Given the description of an element on the screen output the (x, y) to click on. 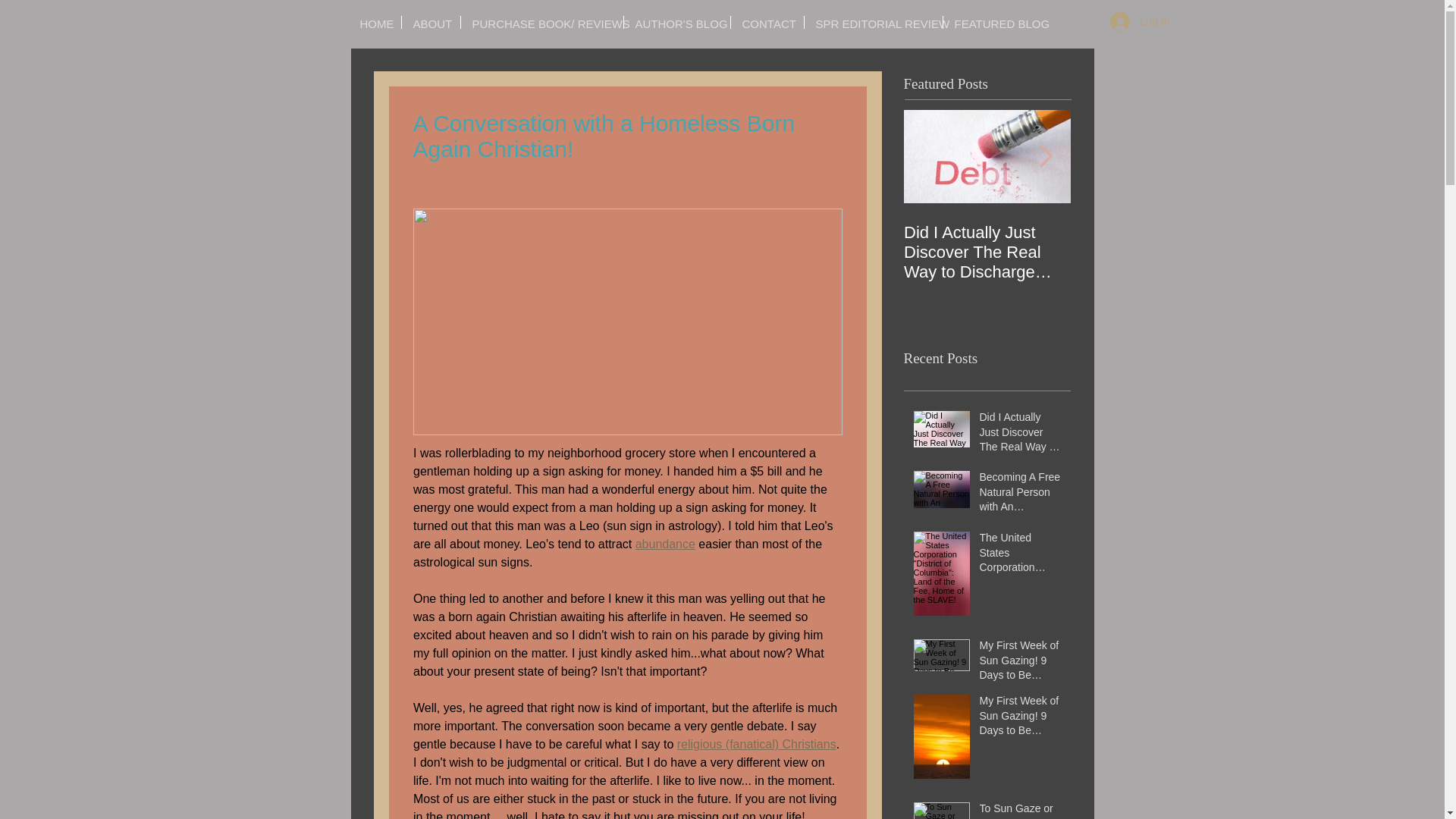
abundance (664, 543)
CONTACT (766, 21)
FEATURED BLOG (995, 21)
AUTHOR'S BLOG (676, 21)
Did I Actually Just Discover The Real Way to Discharge Debt? (987, 251)
HOME (375, 21)
SPR EDITORIAL REVIEW (872, 21)
Did I Actually Just Discover The Real Way to Discharge Debt? (1020, 435)
ABOUT (430, 21)
Log In (1139, 21)
